Given the description of an element on the screen output the (x, y) to click on. 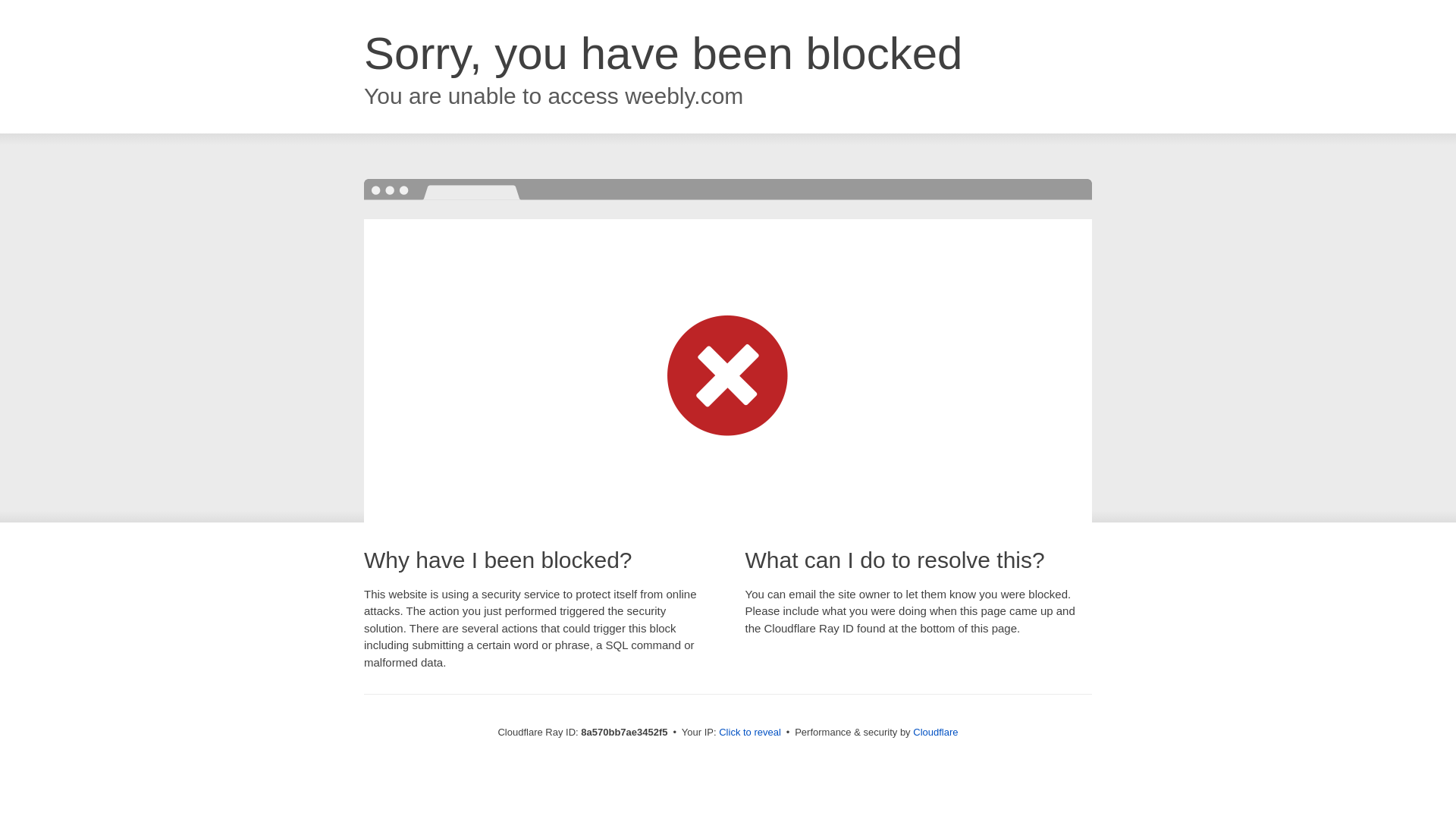
Click to reveal (749, 732)
Cloudflare (935, 731)
